Given the description of an element on the screen output the (x, y) to click on. 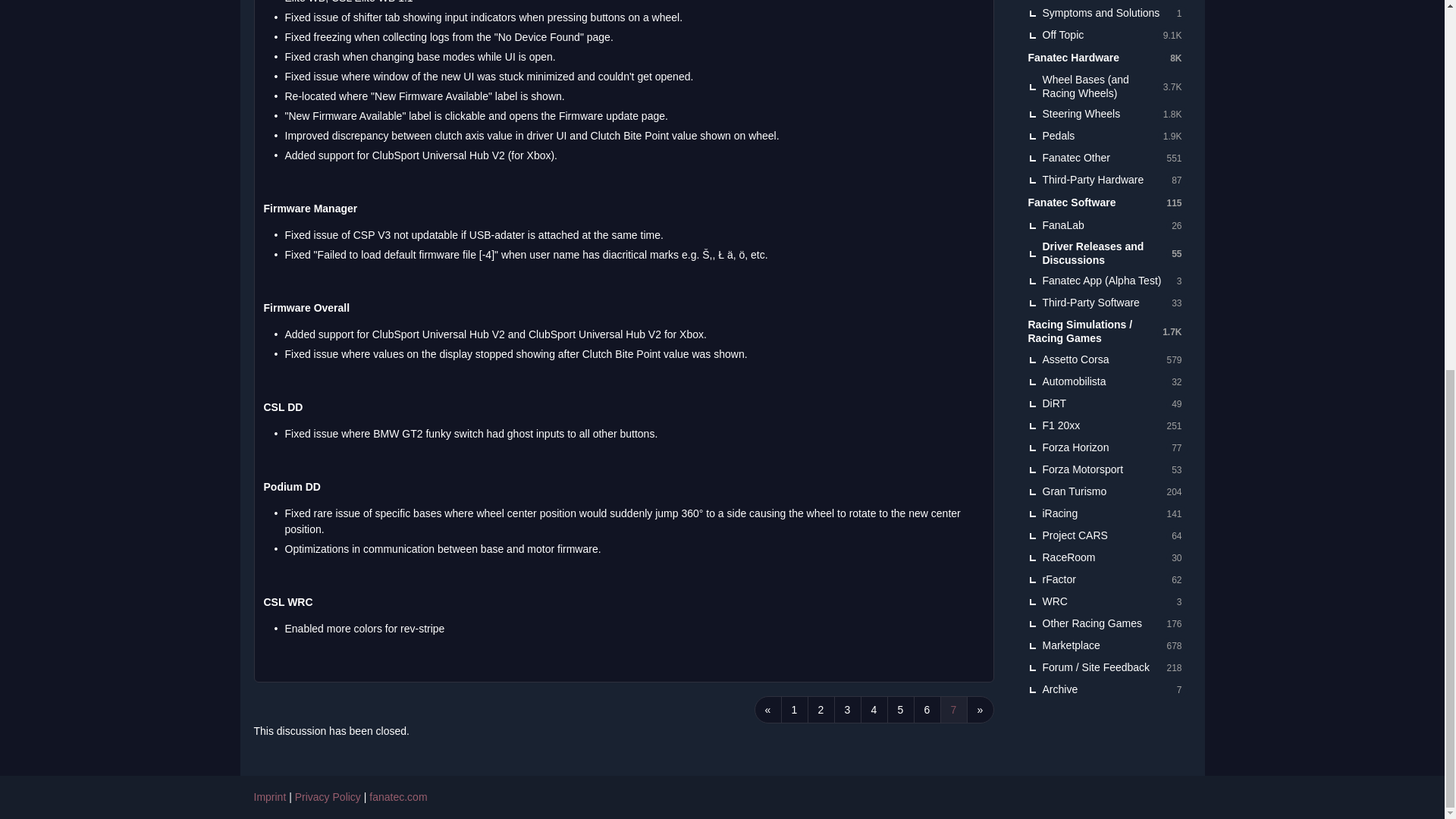
5 (900, 709)
9,067 discussions (1172, 35)
6 (926, 709)
4 (873, 709)
7 (954, 709)
1 (794, 709)
551 discussions (1173, 158)
2 (820, 709)
1,875 discussions (1172, 136)
3,684 discussions (1172, 86)
